Given the description of an element on the screen output the (x, y) to click on. 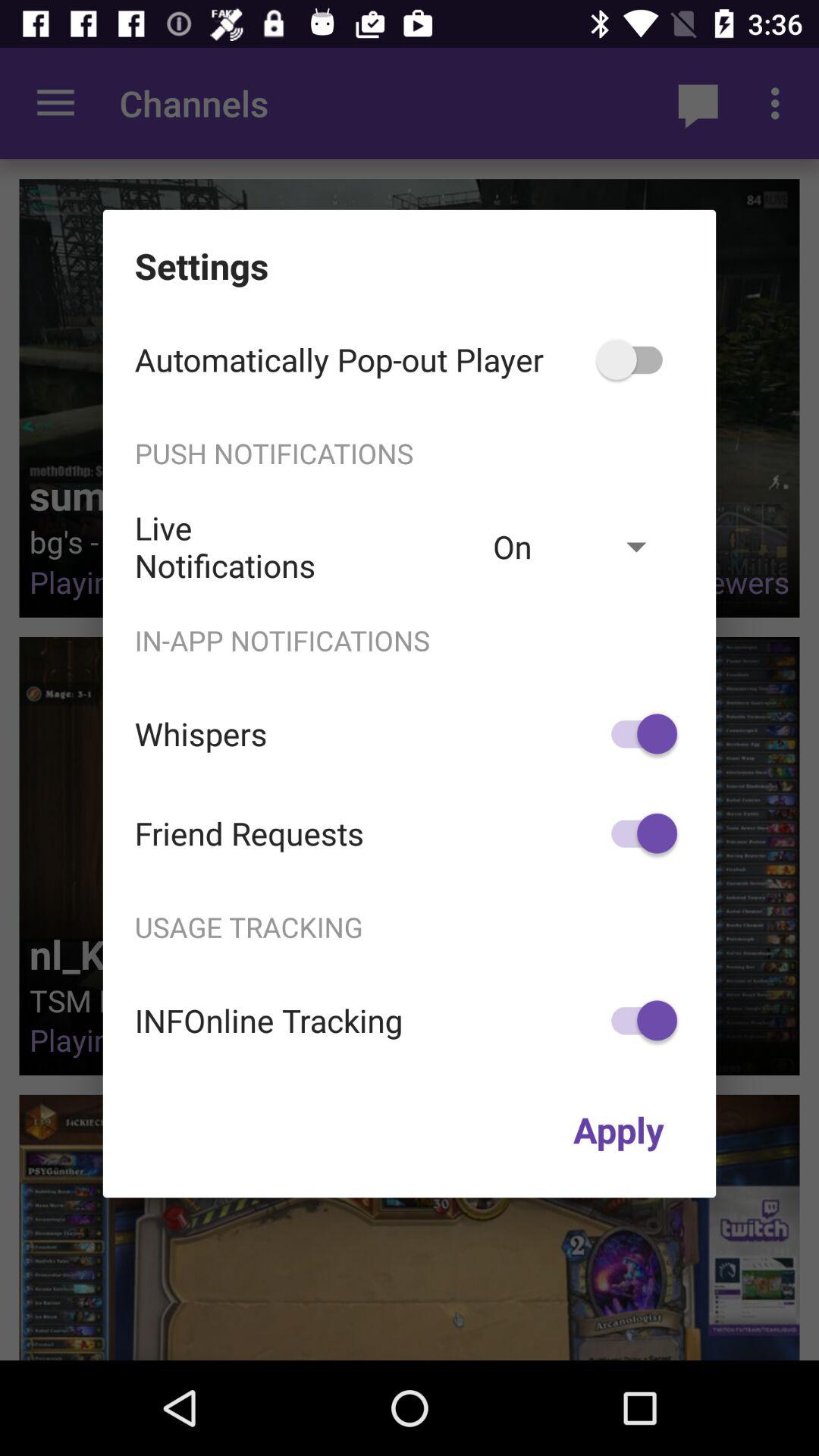
click the icon to the right of the automatically pop out (636, 359)
